Given the description of an element on the screen output the (x, y) to click on. 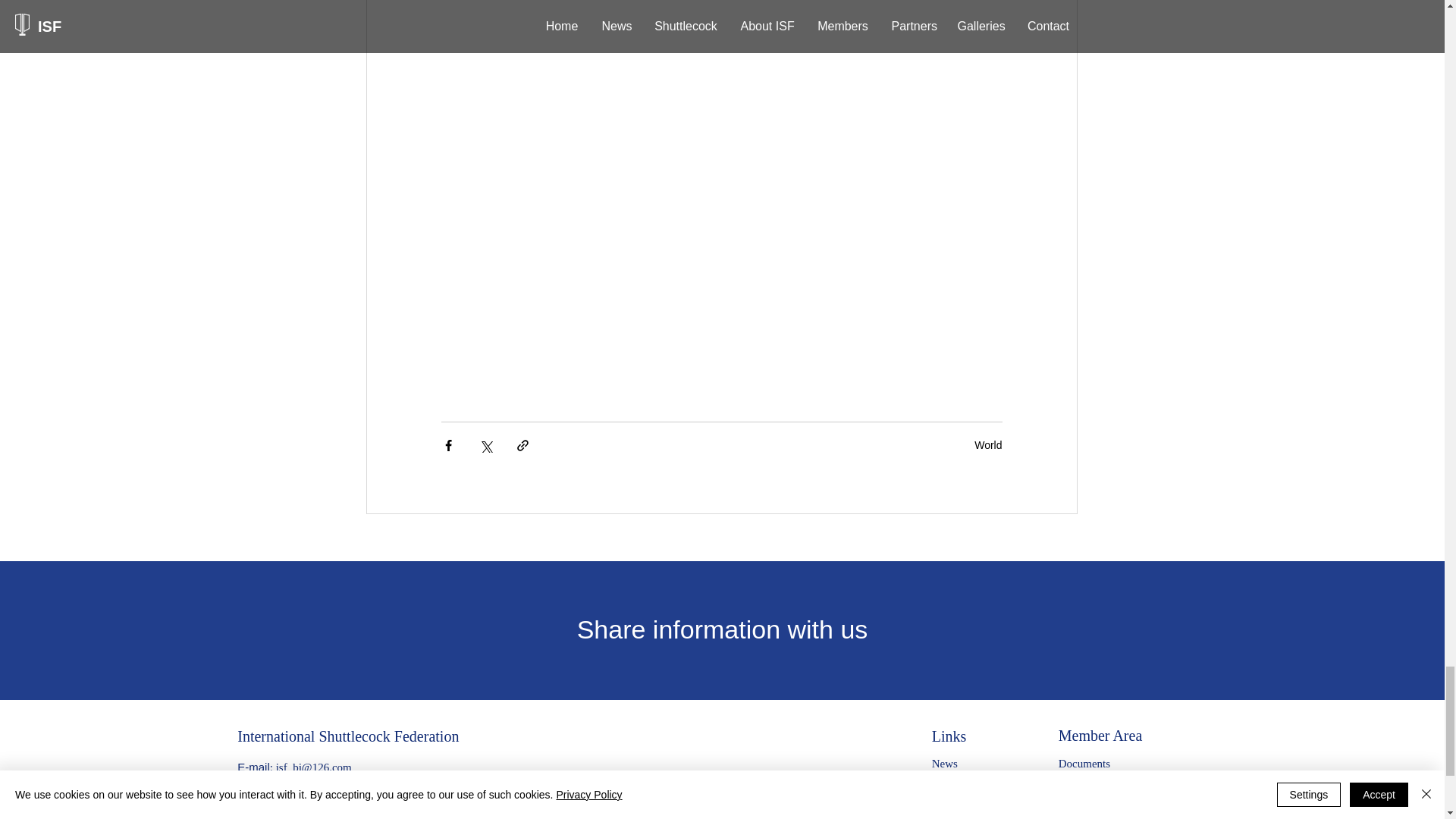
News (944, 762)
Shuttlecock (958, 785)
About ISF (955, 808)
Documents (1083, 762)
Exchange channel (1099, 785)
World (987, 444)
